Given the description of an element on the screen output the (x, y) to click on. 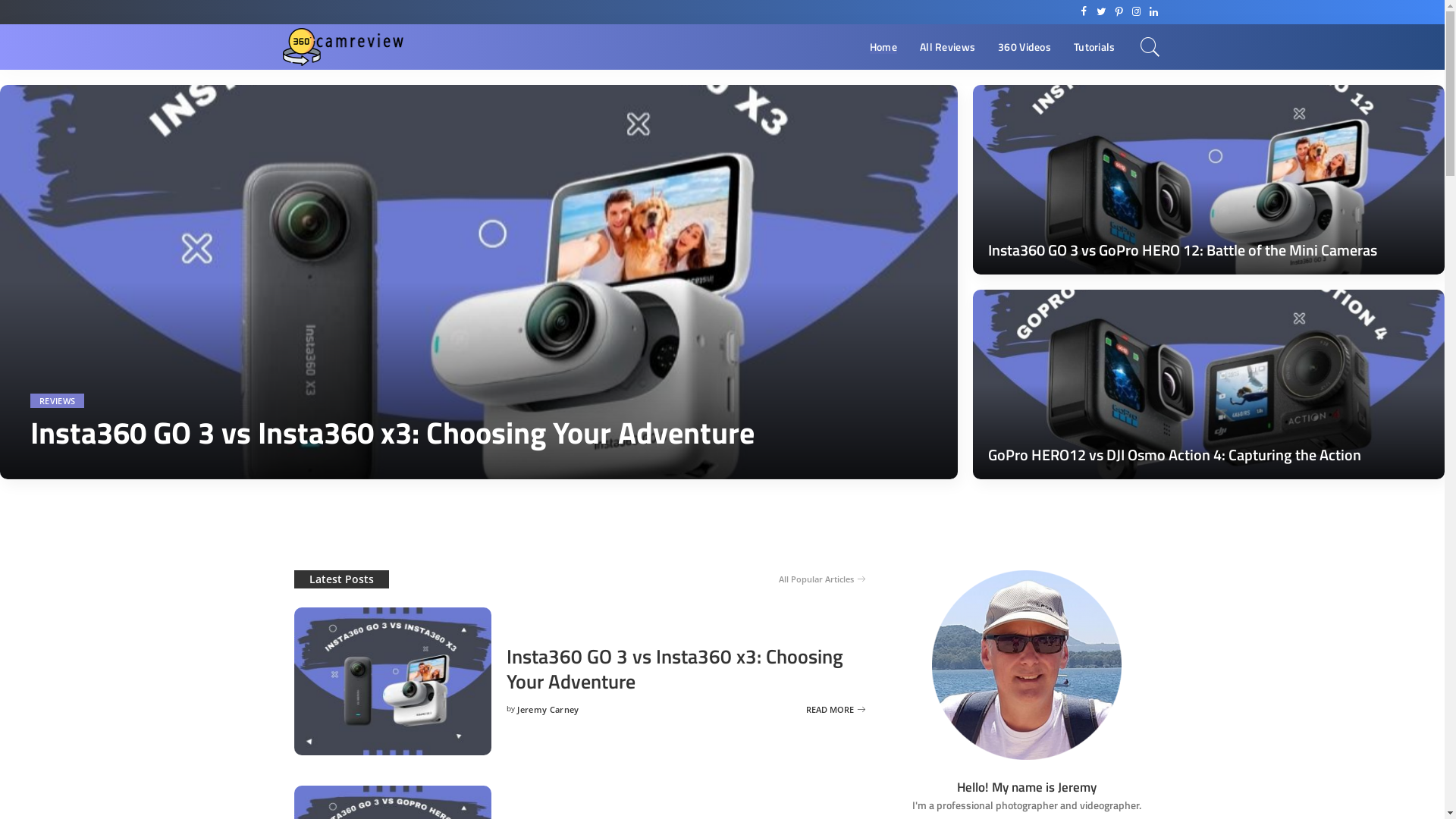
Tutorials Element type: text (1094, 46)
Search Element type: hover (1149, 46)
Insta360 GO 3 vs Insta360 x3: Choosing Your Adventure  Element type: text (674, 668)
READ MORE Element type: text (835, 708)
All Reviews Element type: text (947, 46)
Insta360 GO 3 vs GoPro HERO 12: Battle of the Mini Cameras Element type: text (1182, 249)
Jeremy Carney Element type: text (547, 709)
360 Videos Element type: text (1024, 46)
GoPro HERO12 vs DJI Osmo Action 4: Capturing the Action Element type: hover (1208, 384)
Search Element type: text (1140, 90)
REVIEWS Element type: text (57, 400)
Latest Posts Element type: text (341, 578)
Insta360 GO 3 vs GoPro HERO 12: Battle of the Mini Cameras Element type: hover (1208, 179)
GoPro HERO12 vs DJI Osmo Action 4: Capturing the Action Element type: text (1174, 454)
All Popular Articles Element type: text (821, 579)
360camreview.com Element type: hover (342, 46)
Insta360 GO 3 vs Insta360 x3: Choosing Your Adventure  Element type: text (395, 432)
Home Element type: text (883, 46)
